Given the description of an element on the screen output the (x, y) to click on. 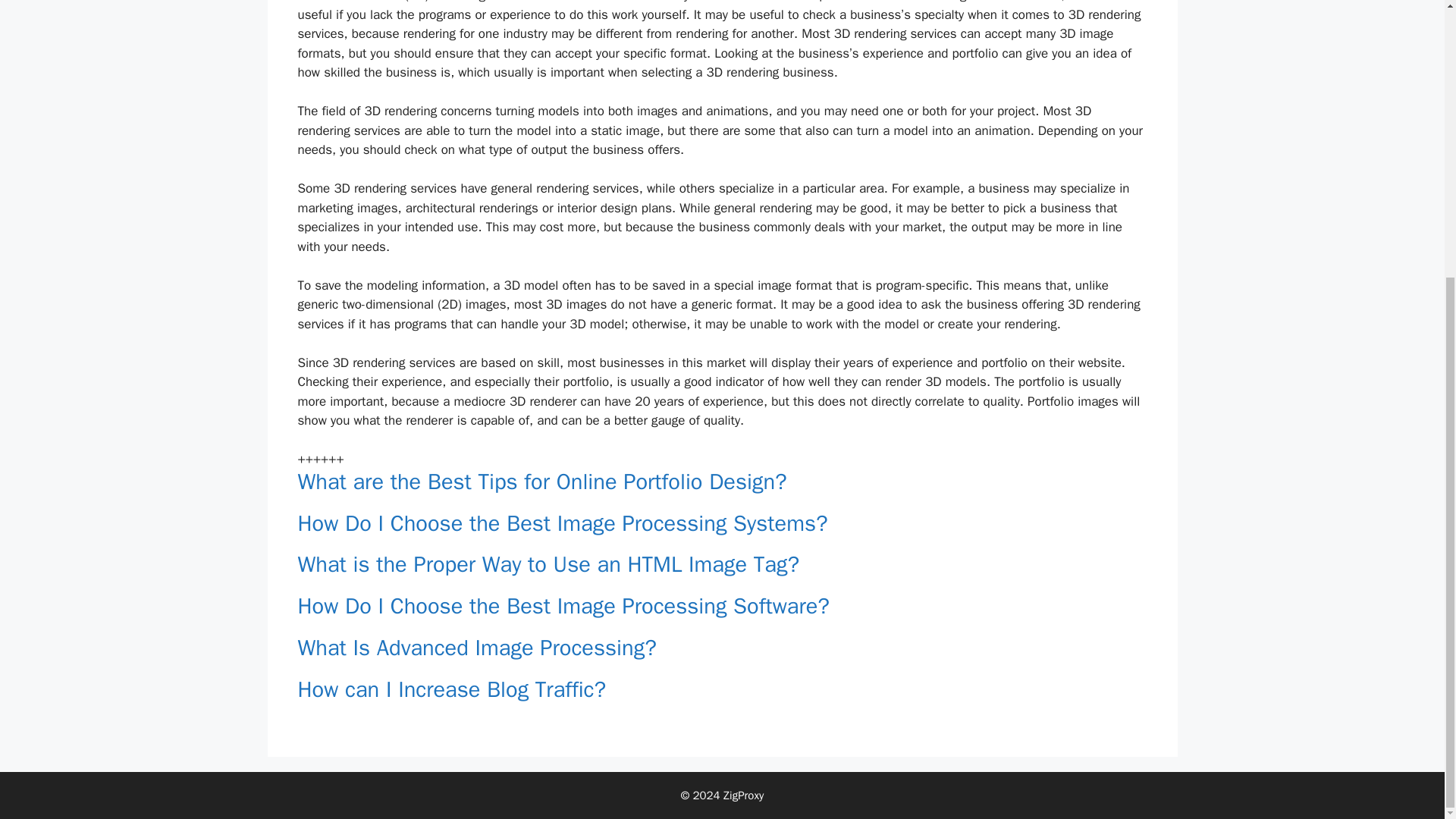
What Is Advanced Image Processing? (476, 647)
How can I Increase Blog Traffic? (451, 689)
How Do I Choose the Best Image Processing Systems? (562, 523)
What are the Best Tips for Online Portfolio Design? (541, 481)
What is the Proper Way to Use an HTML Image Tag? (548, 564)
How Do I Choose the Best Image Processing Software? (562, 605)
